Given the description of an element on the screen output the (x, y) to click on. 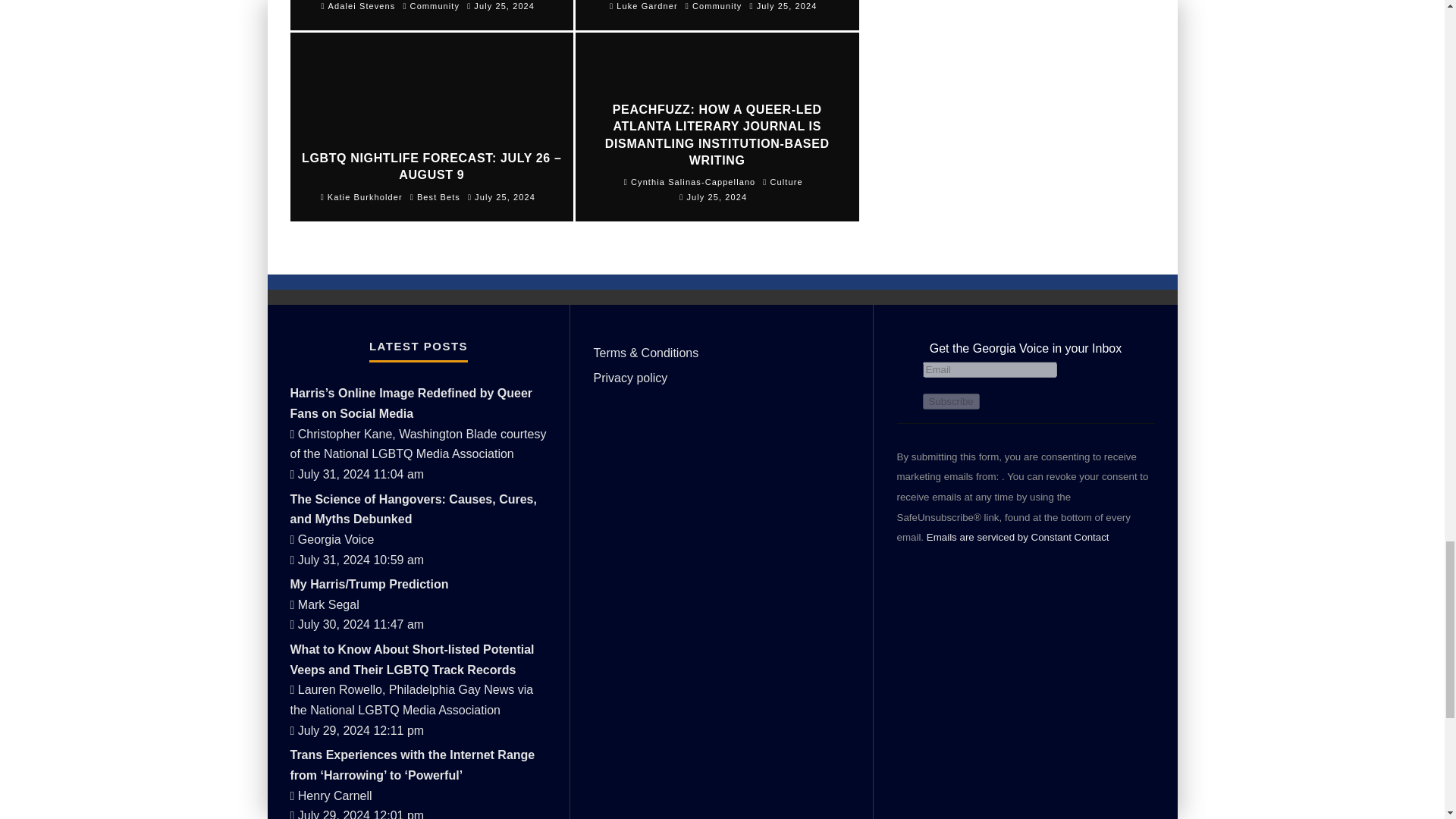
Subscribe (949, 401)
